Given the description of an element on the screen output the (x, y) to click on. 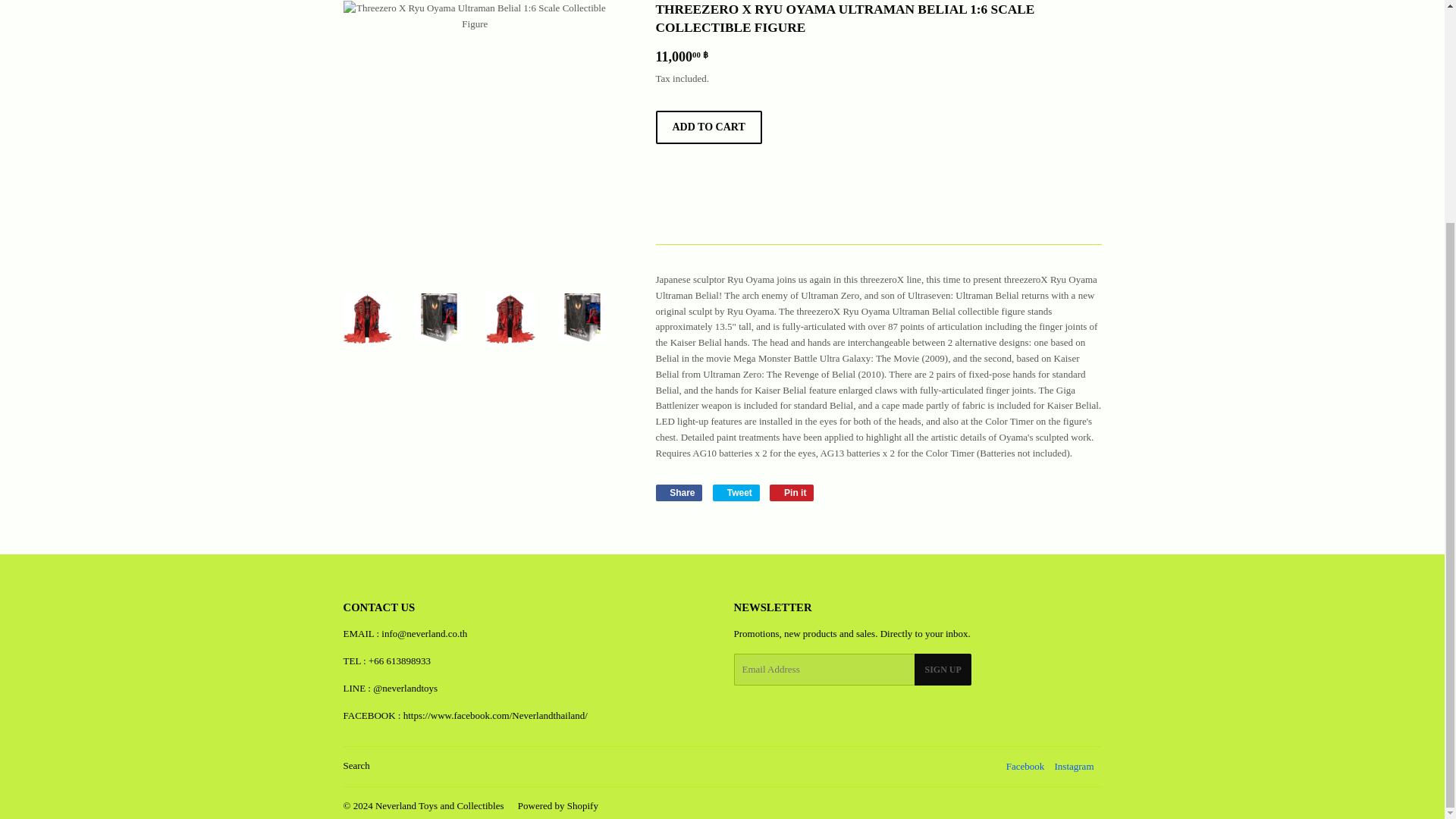
ADD TO CART (708, 127)
Neverland Toys and Collectibles on Facebook (1025, 766)
Share on Facebook (678, 492)
Facebook (1025, 766)
Neverland Toys and Collectibles (791, 492)
Tweet on Twitter (439, 805)
Neverland Toys and Collectibles on Instagram (736, 492)
Pin on Pinterest (736, 492)
Search (1074, 766)
Instagram (791, 492)
SIGN UP (355, 765)
Powered by Shopify (1074, 766)
